Given the description of an element on the screen output the (x, y) to click on. 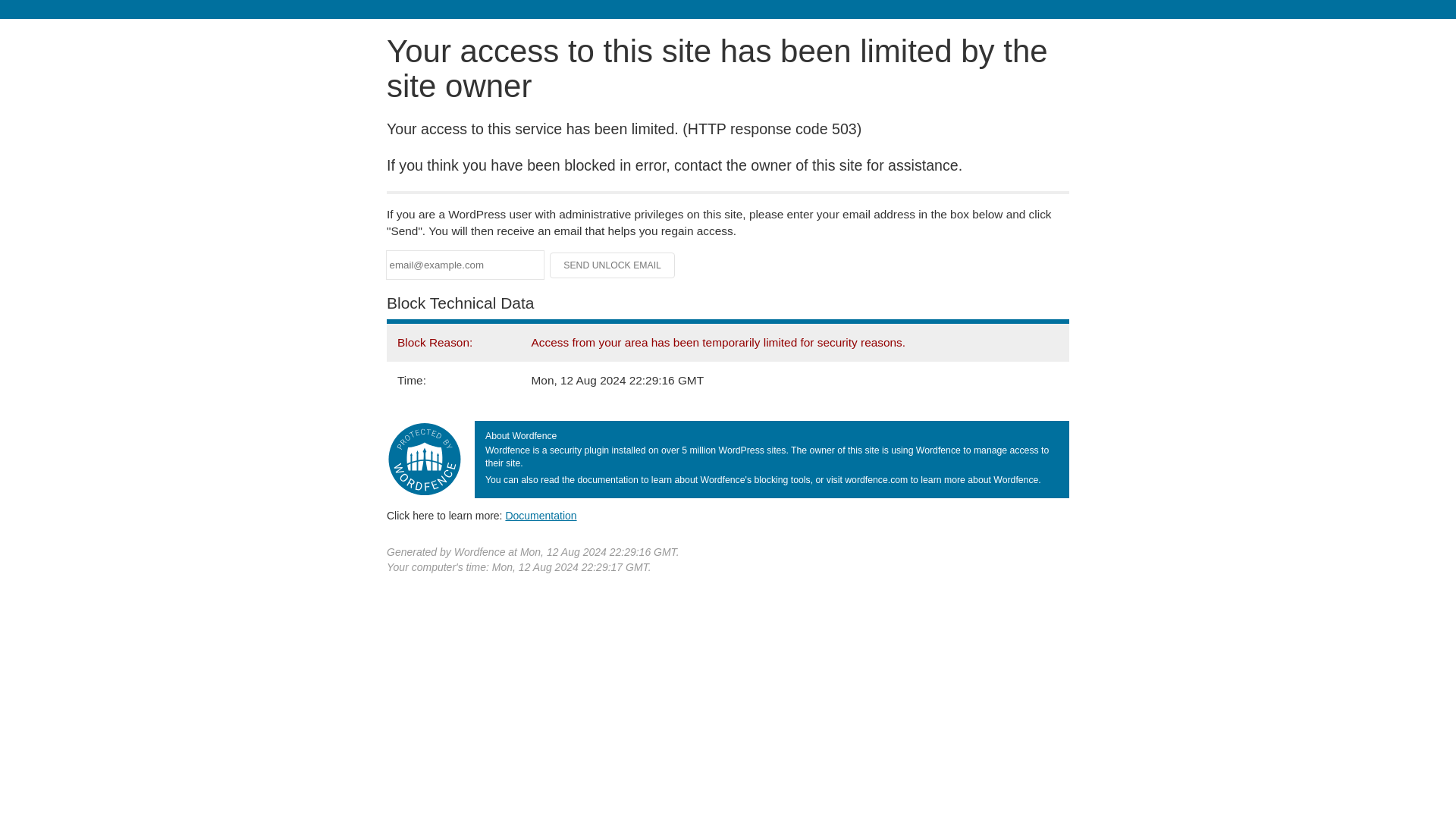
Documentation (540, 515)
Send Unlock Email (612, 265)
Send Unlock Email (612, 265)
